Given the description of an element on the screen output the (x, y) to click on. 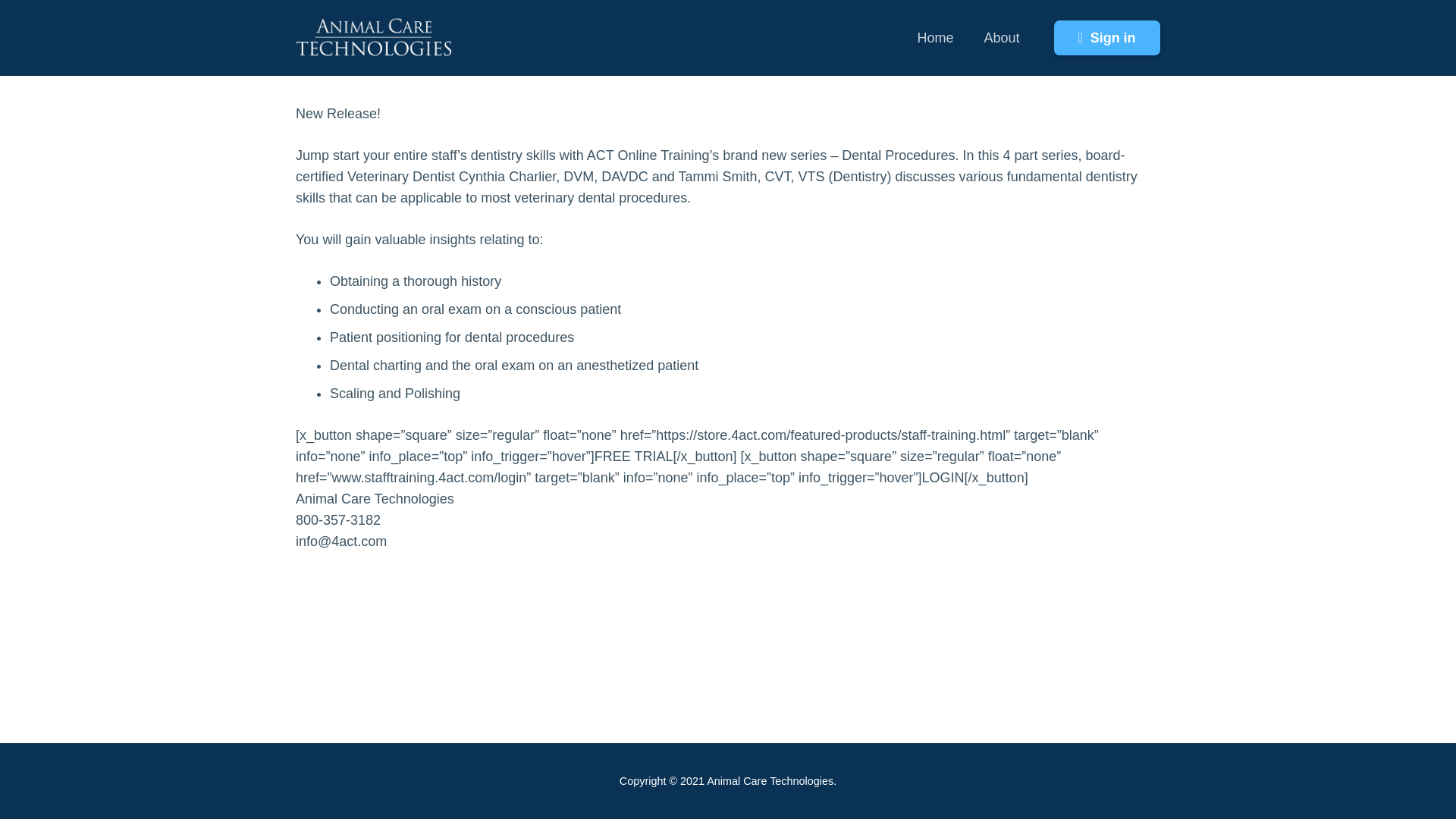
Sign in (1107, 38)
